Given the description of an element on the screen output the (x, y) to click on. 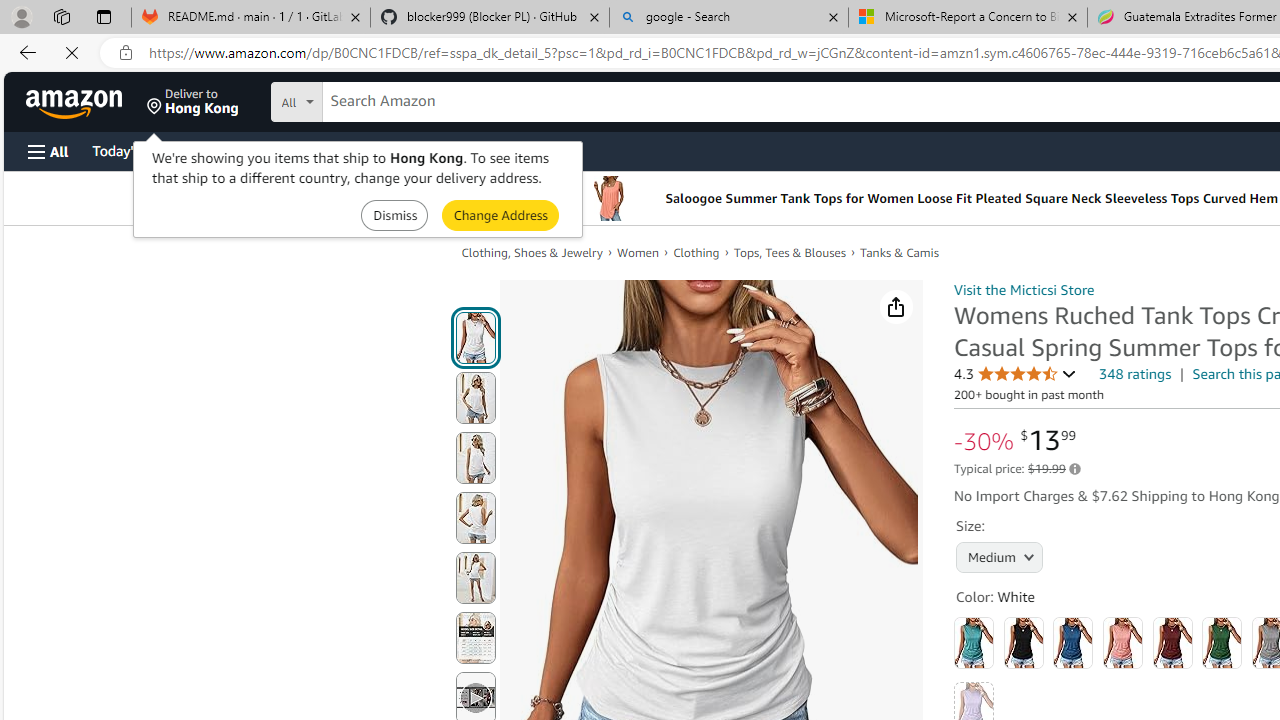
Green (1222, 642)
Tops, Tees & Blouses (797, 252)
Tanks & Camis (906, 252)
Black (1023, 642)
Search in (371, 99)
Gift Cards (442, 150)
Sell (509, 150)
Submit (499, 214)
Today's Deals (134, 150)
Clothing (703, 252)
Aqua (974, 642)
